Given the description of an element on the screen output the (x, y) to click on. 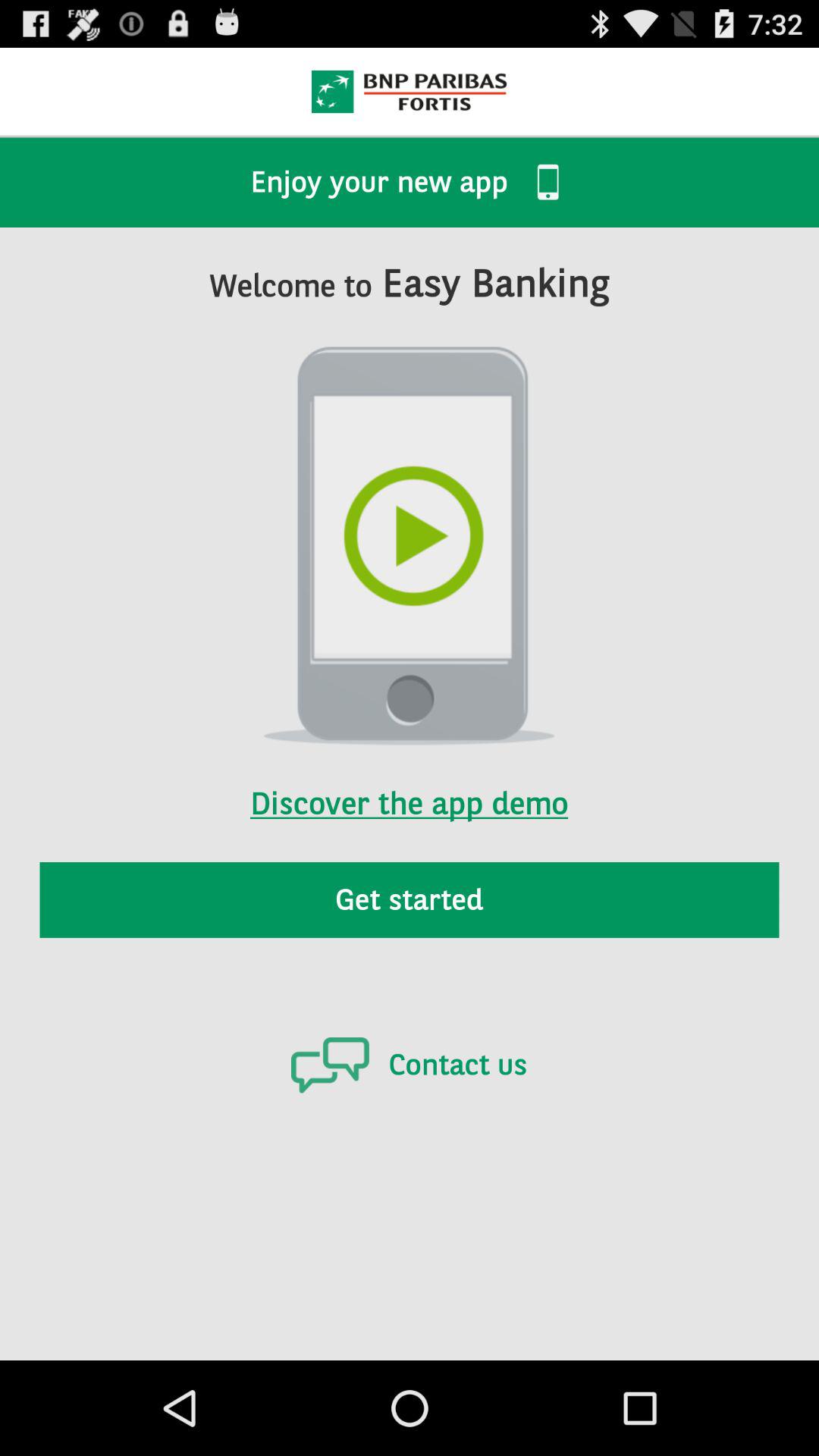
flip to contact us icon (409, 1065)
